Given the description of an element on the screen output the (x, y) to click on. 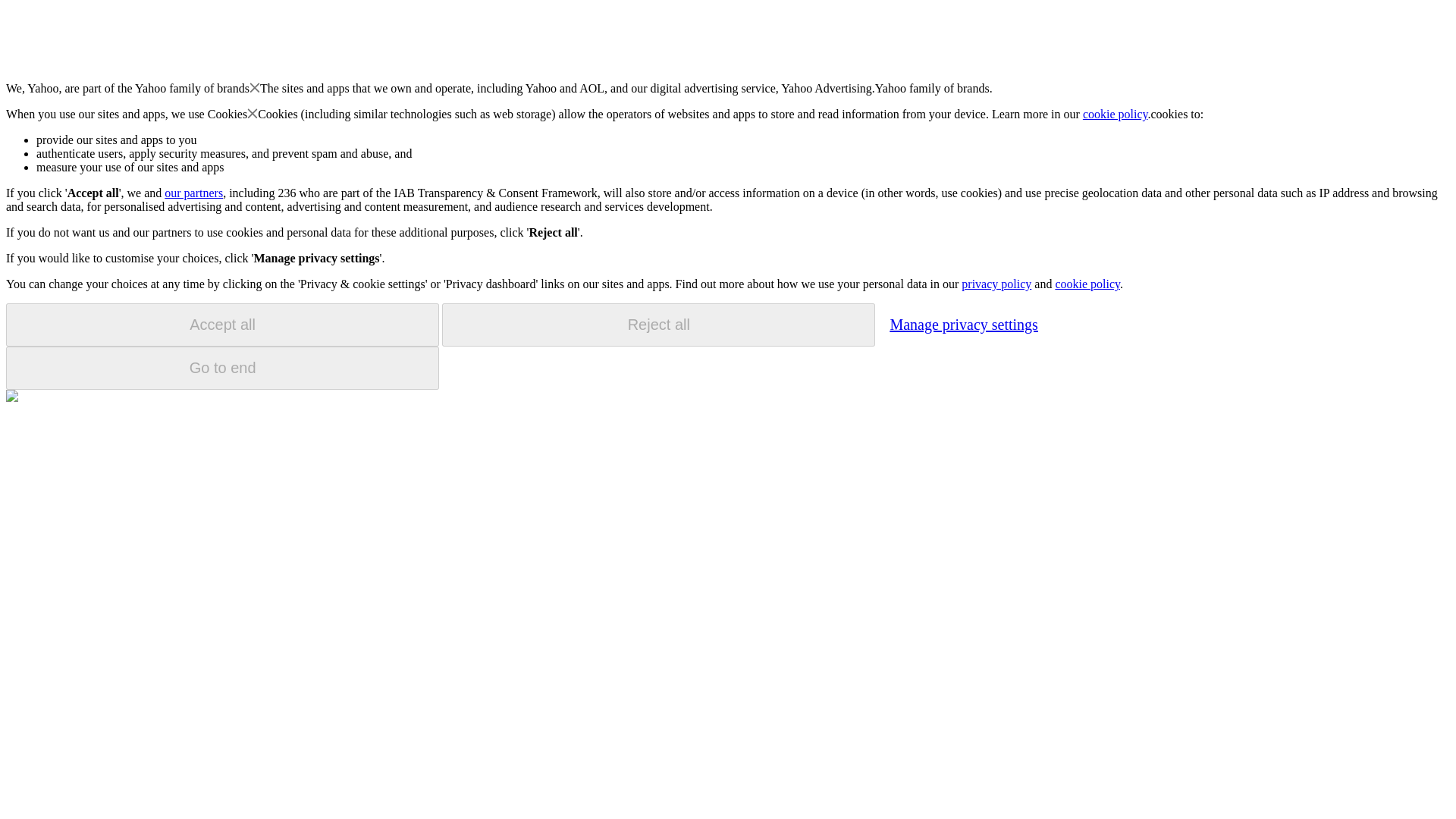
Accept all (222, 324)
Go to end (222, 367)
our partners (193, 192)
Reject all (658, 324)
privacy policy (995, 283)
cookie policy (1086, 283)
Manage privacy settings (963, 323)
cookie policy (1115, 113)
